Given the description of an element on the screen output the (x, y) to click on. 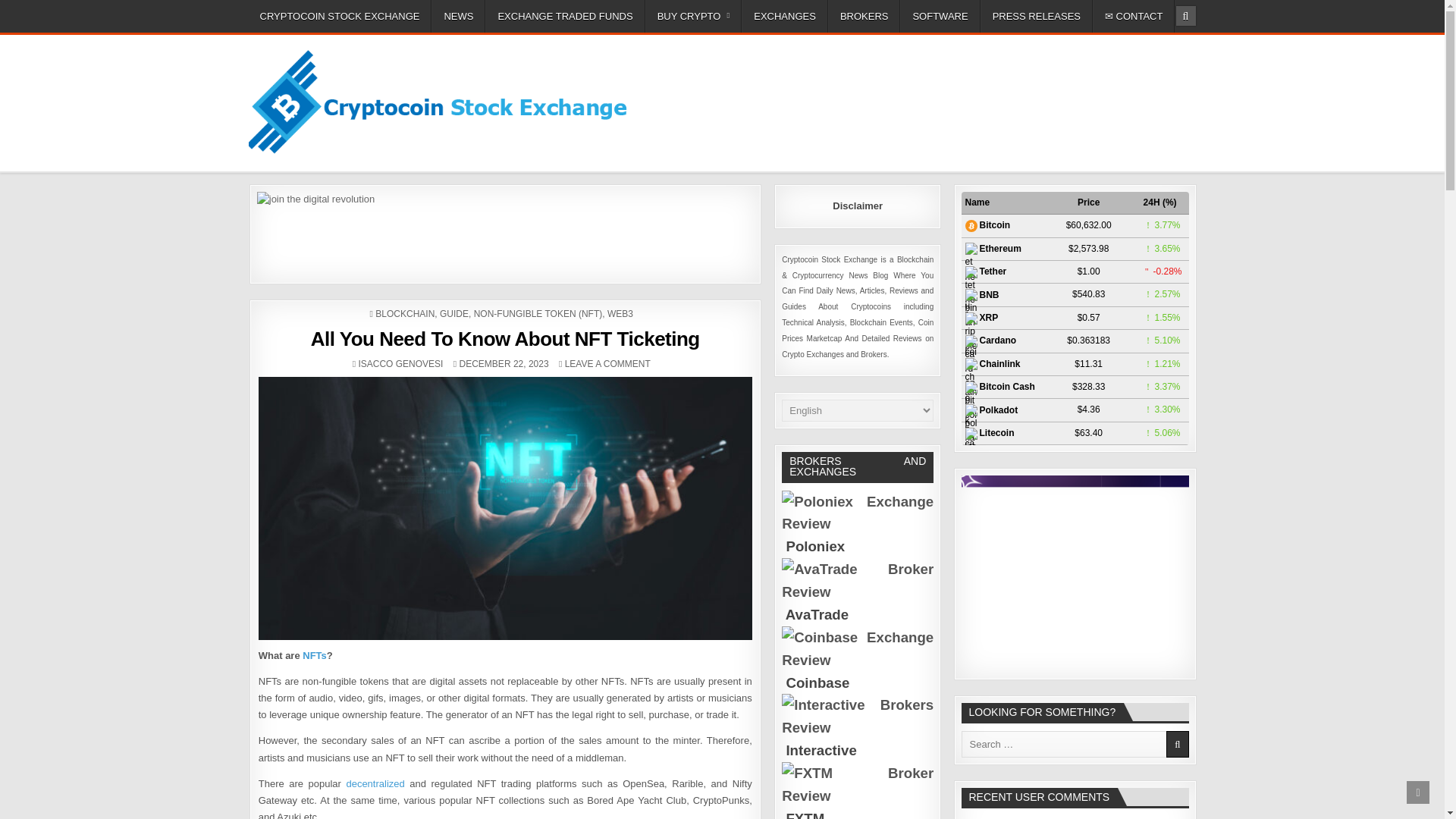
Search (1184, 15)
decentralized (375, 783)
BUY CRYPTO (693, 16)
SOFTWARE (939, 16)
EXCHANGES (784, 16)
CRYPTOCOIN STOCK EXCHANGE (340, 16)
nft (314, 655)
All You Need To Know About NFT Ticketing (505, 338)
join the digital revolution (505, 230)
LEAVE A COMMENT (607, 363)
